Given the description of an element on the screen output the (x, y) to click on. 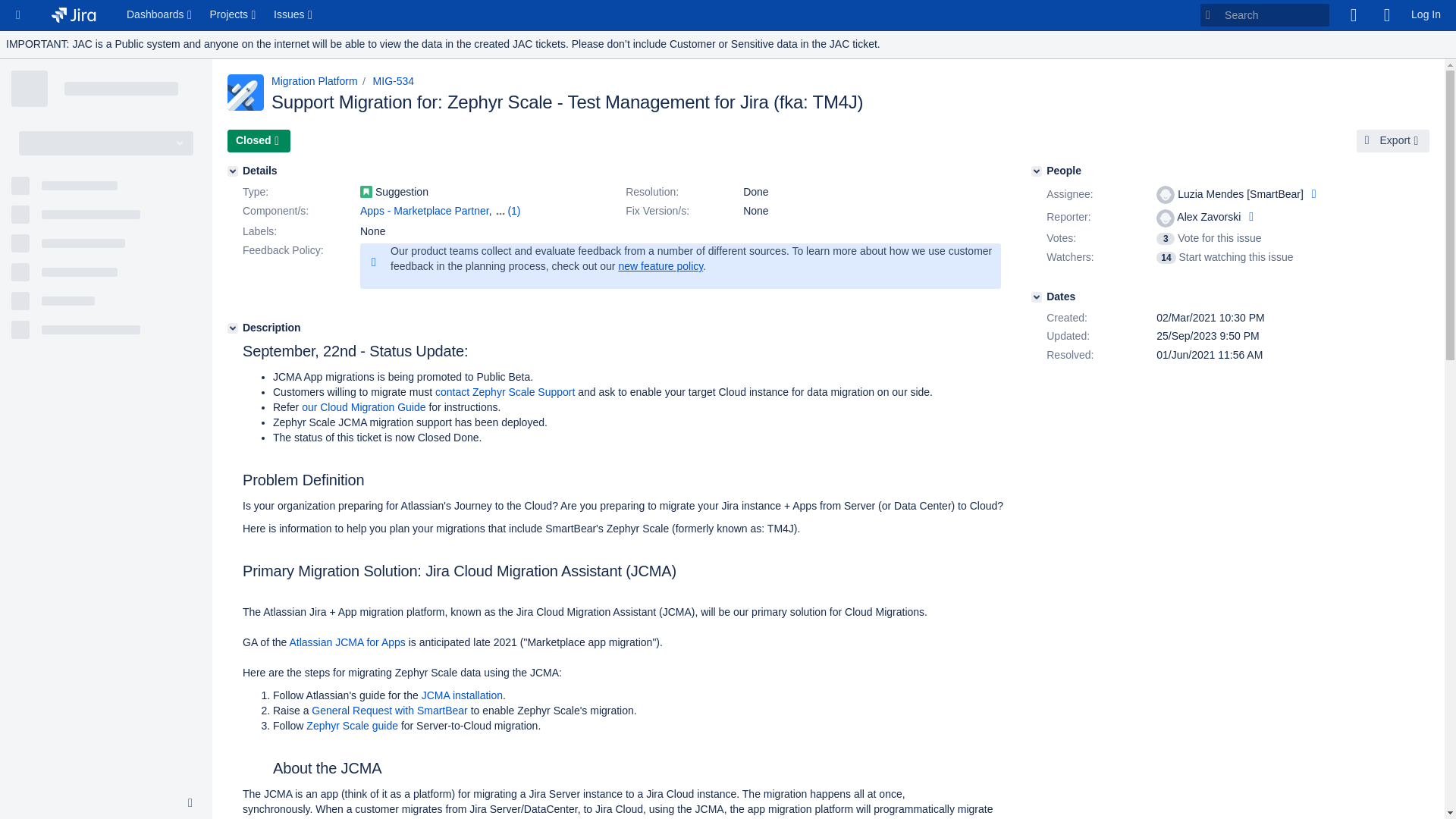
Projects (234, 15)
our Cloud Migration Guide (363, 407)
Give feedback to Atlassian (1353, 15)
contact Zephyr Scale Support (505, 391)
Apps - Marketplace Partner  (424, 210)
Type (299, 192)
Migration Platform (314, 80)
View and manage your dashboards (160, 15)
Jira - Migration Assistant - Export (437, 225)
Description (232, 327)
